Given the description of an element on the screen output the (x, y) to click on. 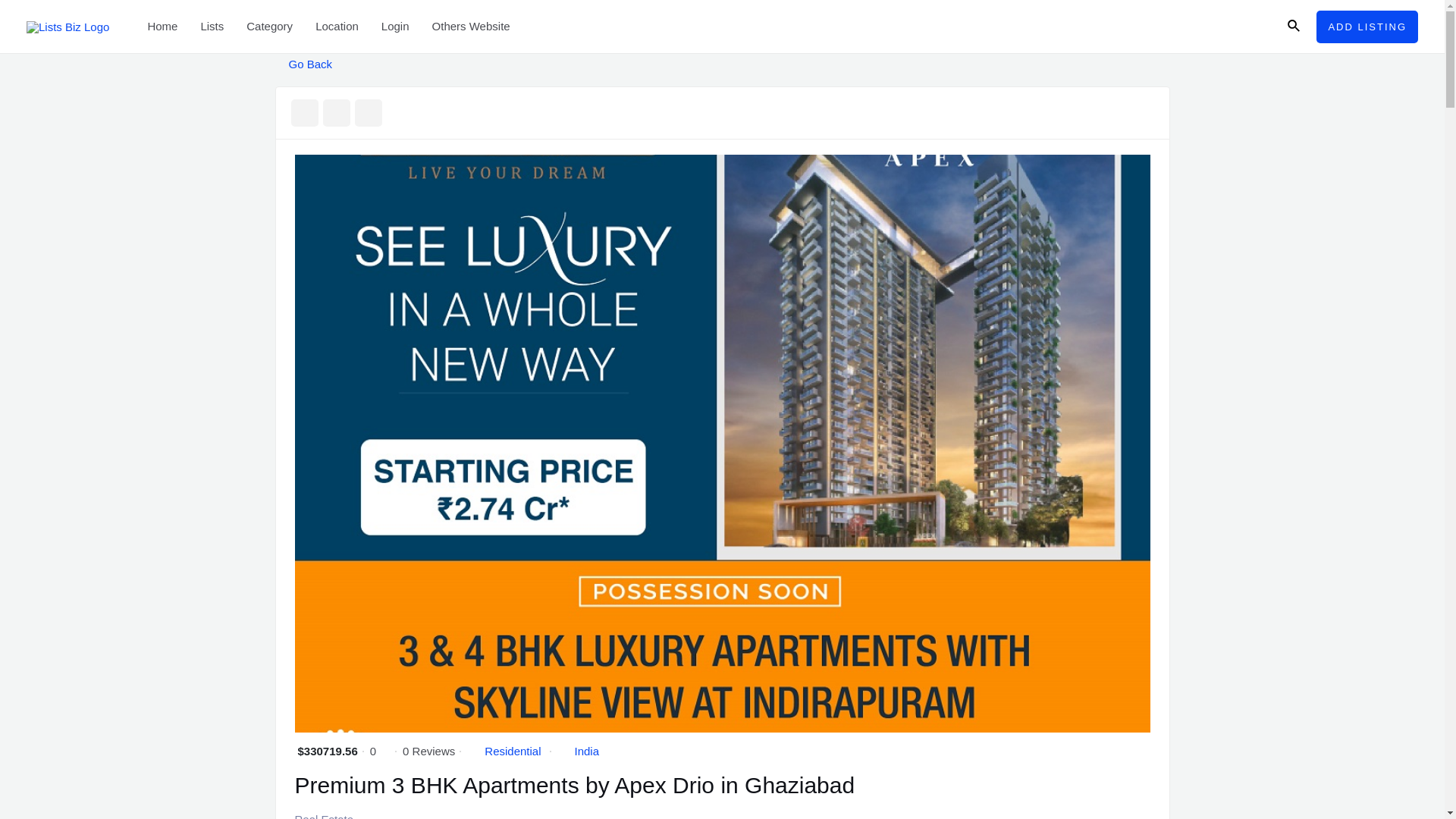
India (587, 750)
Location (336, 26)
Login (394, 26)
Category (269, 26)
Residential (512, 750)
ADD LISTING (1367, 26)
Others Website (470, 26)
Home (162, 26)
Go Back (303, 64)
